Given the description of an element on the screen output the (x, y) to click on. 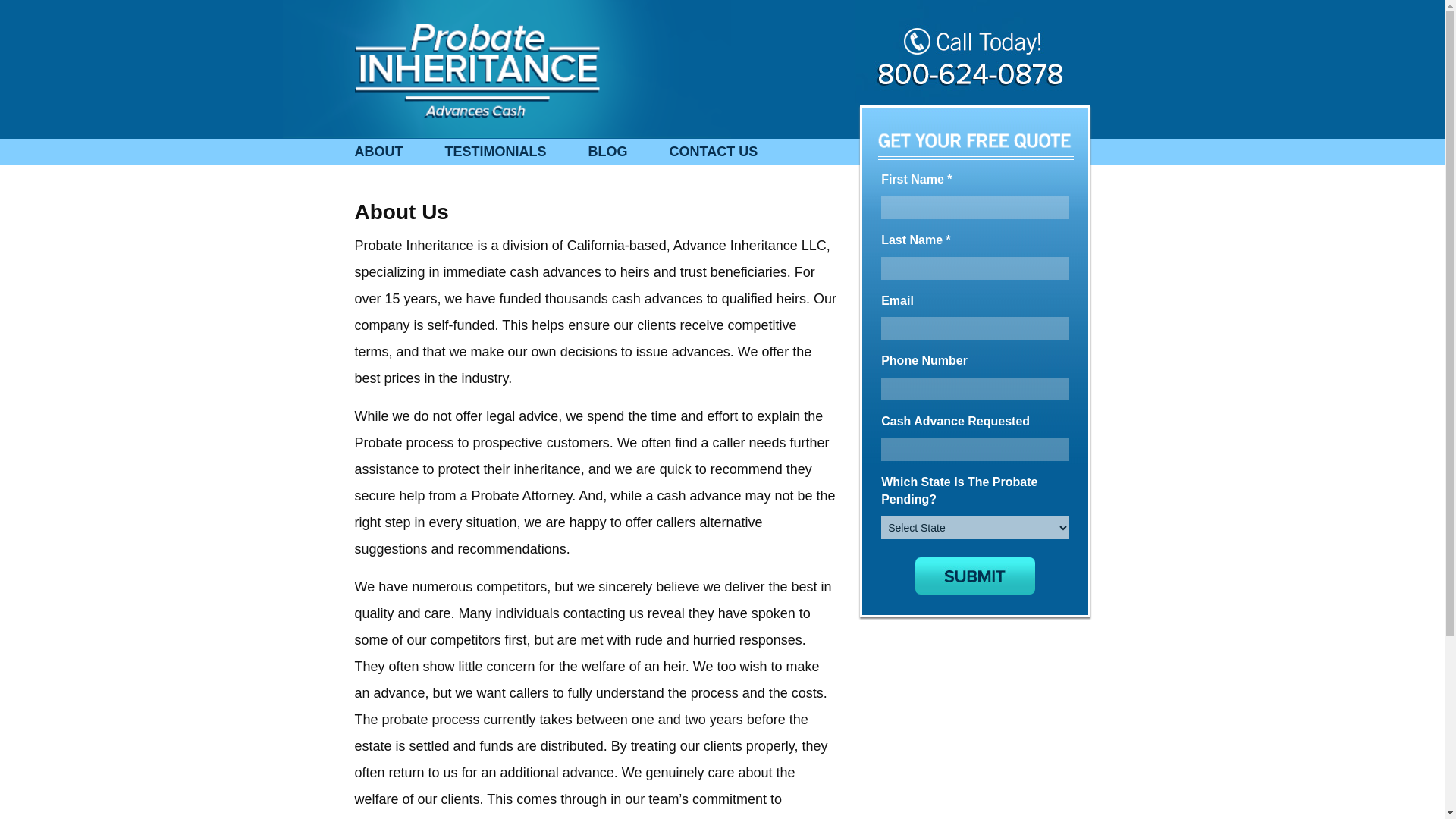
CONTACT US (712, 151)
Submit (975, 575)
TESTIMONIALS (495, 151)
Submit (975, 575)
Probate Inheritance (476, 69)
ABOUT (379, 151)
BLOG (607, 151)
